Given the description of an element on the screen output the (x, y) to click on. 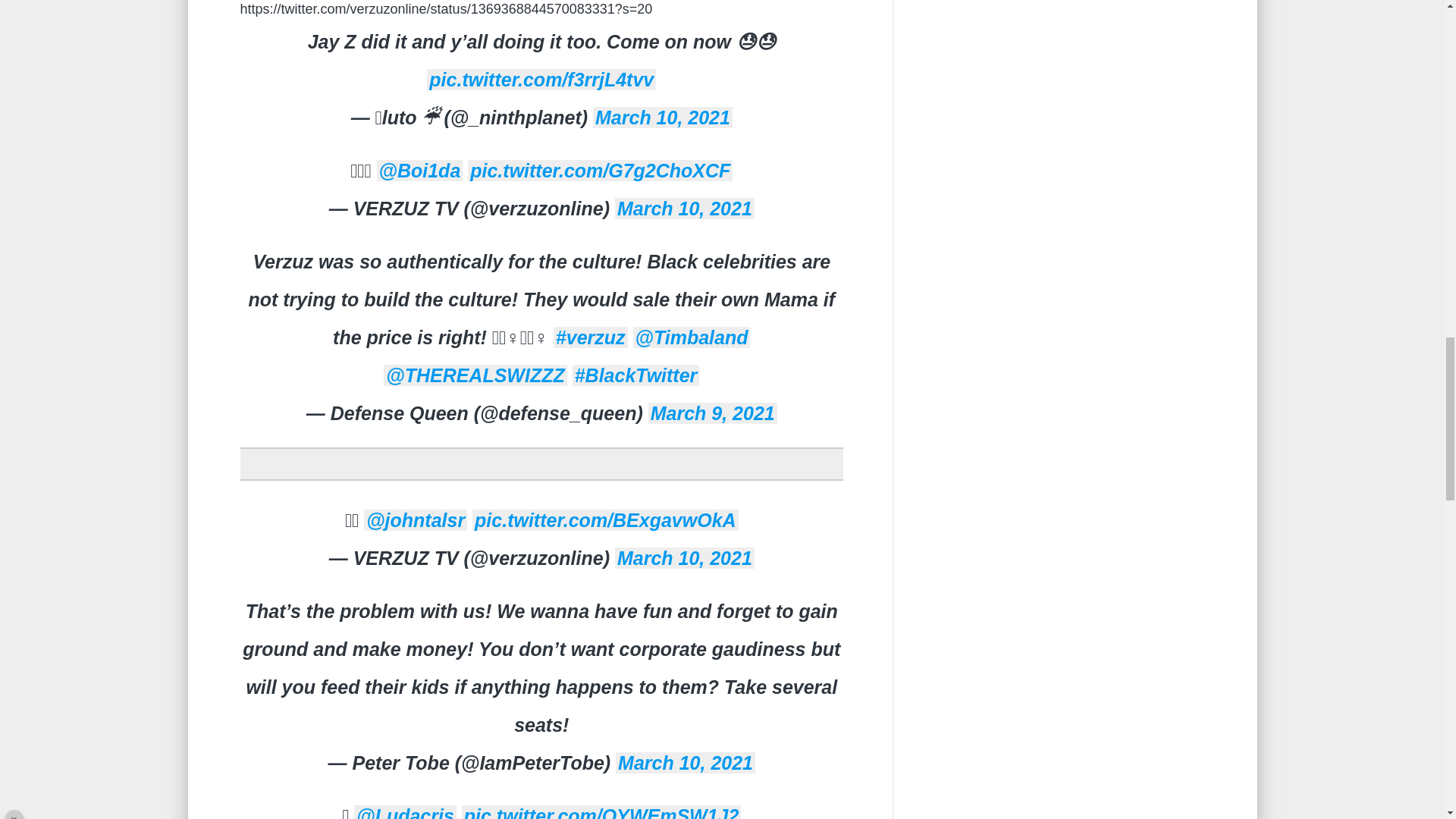
March 10, 2021 (662, 117)
March 10, 2021 (684, 208)
March 9, 2021 (712, 413)
